Given the description of an element on the screen output the (x, y) to click on. 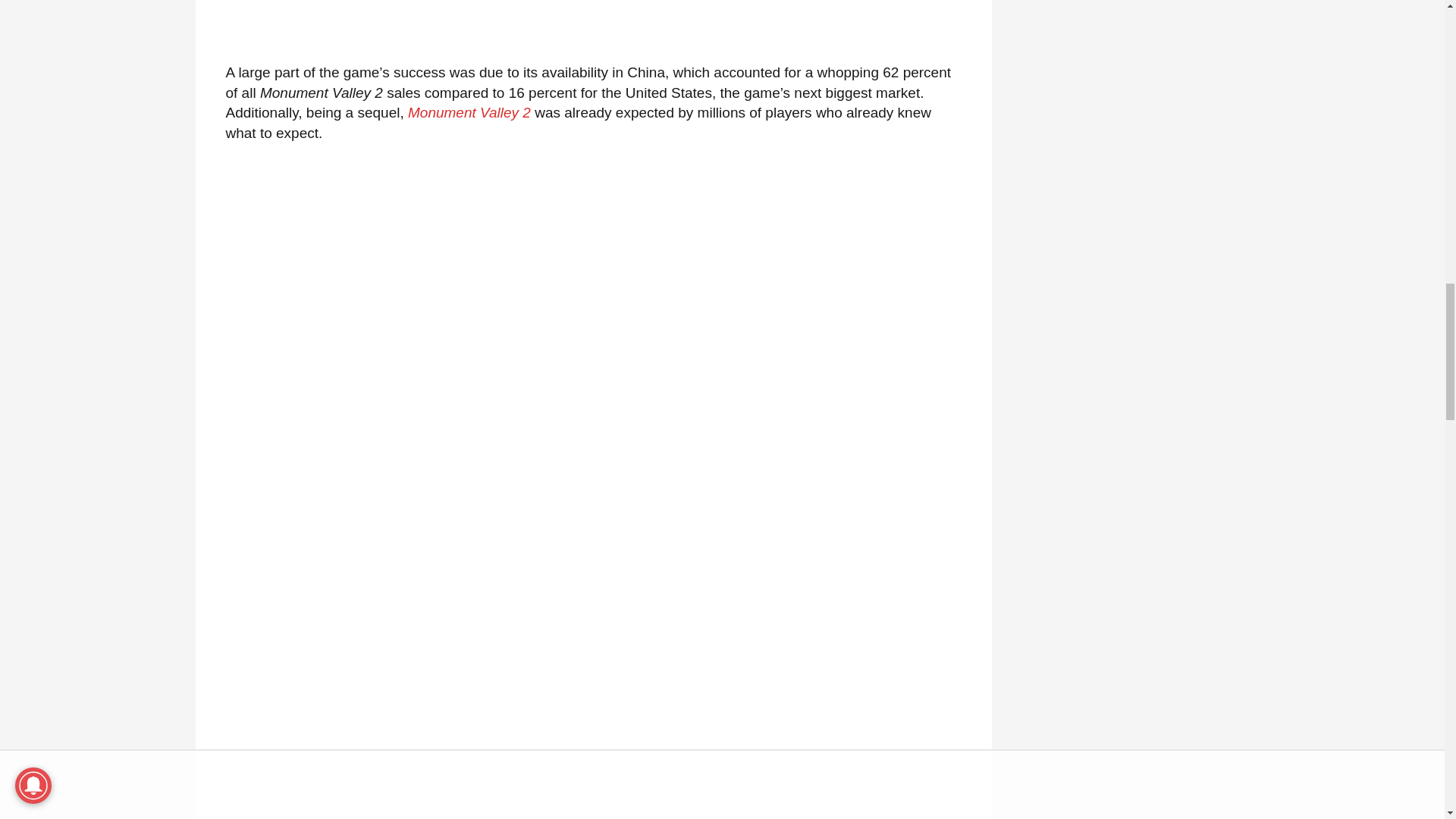
Monument Valley 2 (469, 112)
